Given the description of an element on the screen output the (x, y) to click on. 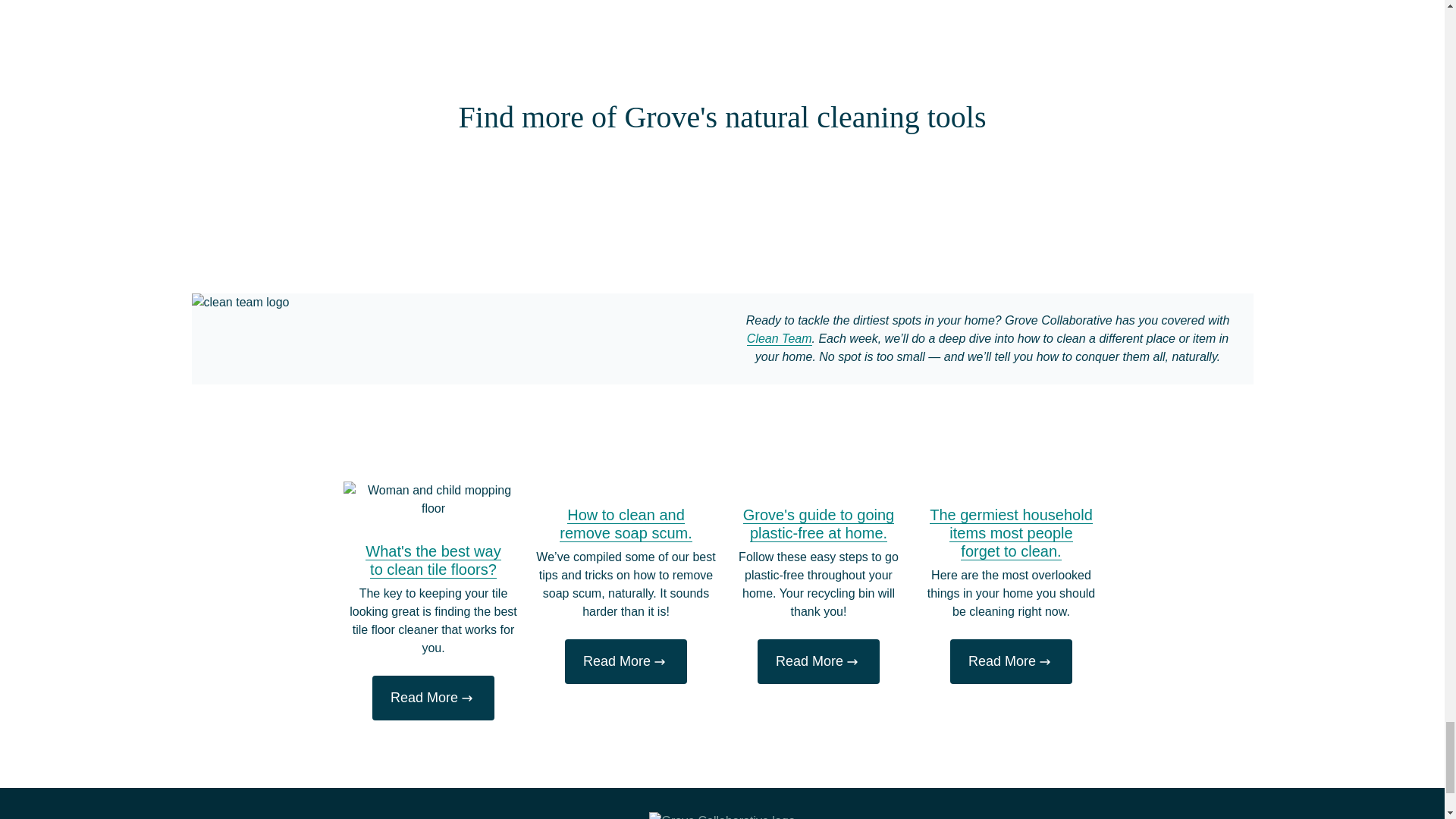
arrow (659, 662)
arrow (467, 698)
arrow (1044, 662)
arrow (852, 662)
